Given the description of an element on the screen output the (x, y) to click on. 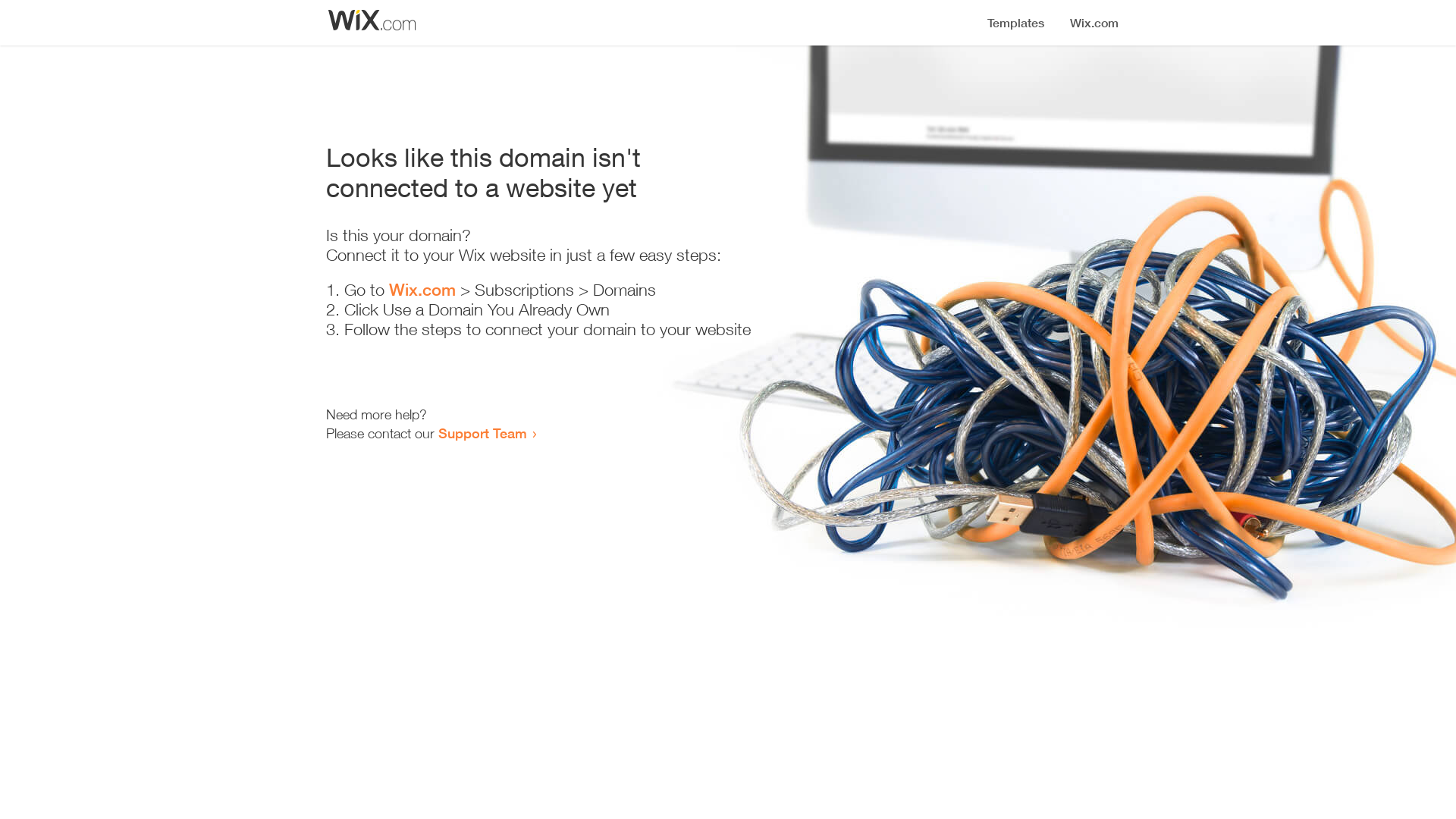
Wix.com Element type: text (422, 289)
Support Team Element type: text (482, 432)
